Given the description of an element on the screen output the (x, y) to click on. 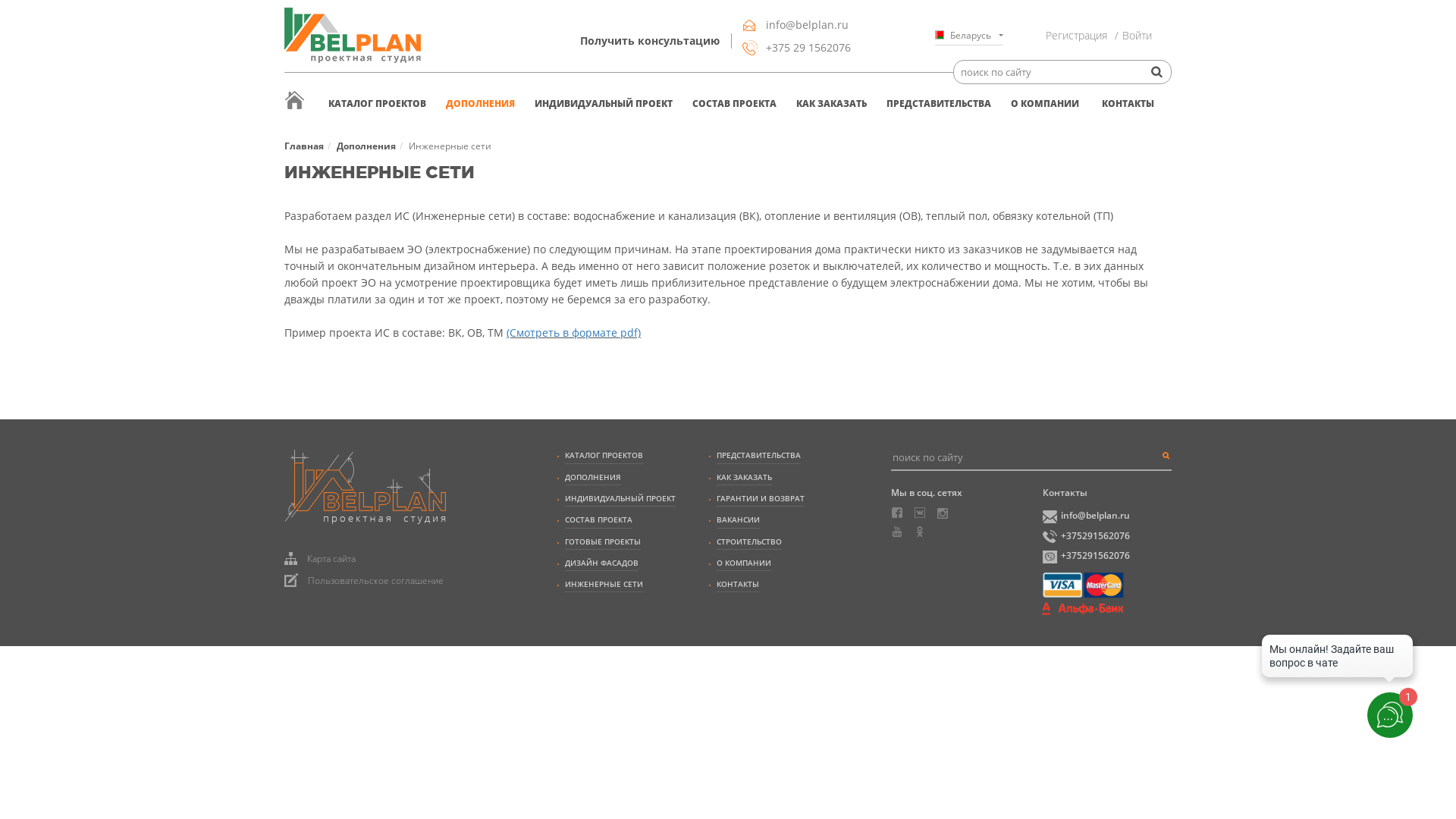
info@belplan.ru Element type: text (1106, 514)
+375291562076 Element type: text (1106, 535)
info@belplan.ru  Element type: text (797, 24)
amoCRM Live Chat Element type: hover (1337, 659)
+375 29 1562076 Element type: text (797, 47)
+375291562076 Element type: text (1106, 554)
